Given the description of an element on the screen output the (x, y) to click on. 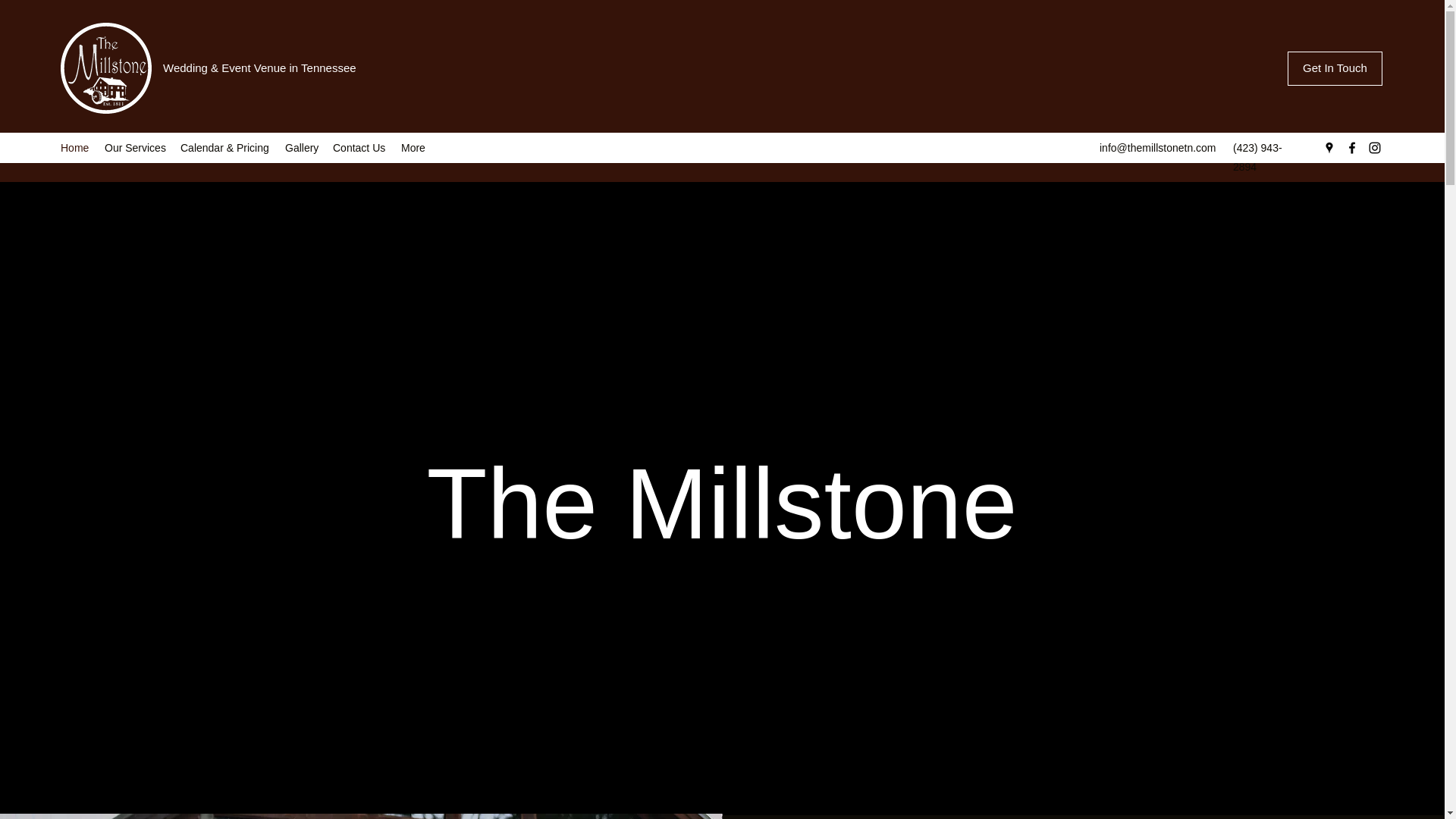
Our Services (135, 147)
Contact Us (358, 147)
Gallery (301, 147)
Home (74, 147)
Get In Touch (1334, 68)
